Given the description of an element on the screen output the (x, y) to click on. 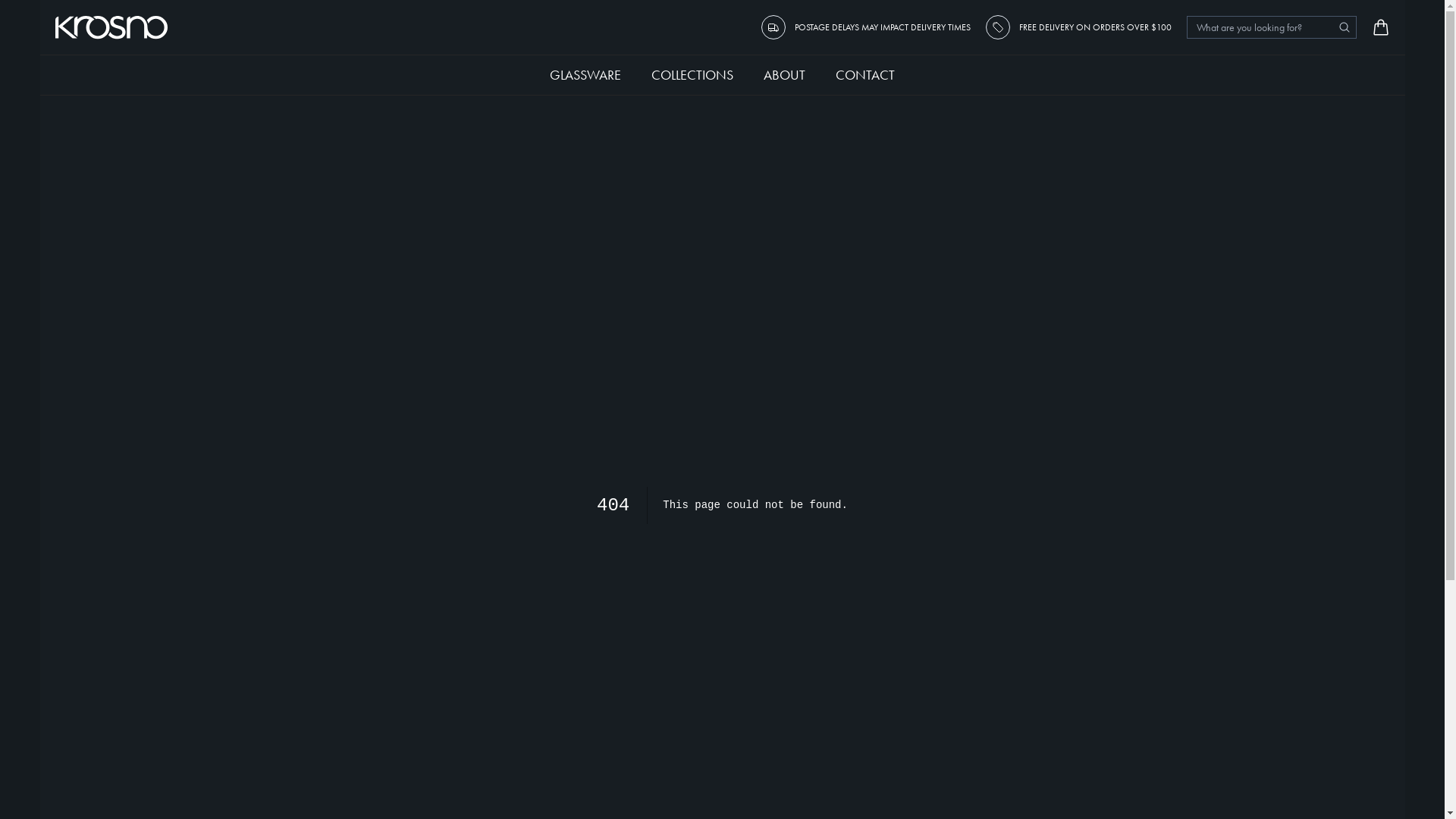
COLLECTIONS Element type: text (692, 74)
GLASSWARE Element type: text (585, 74)
ABOUT Element type: text (784, 74)
CONTACT Element type: text (864, 74)
